Given the description of an element on the screen output the (x, y) to click on. 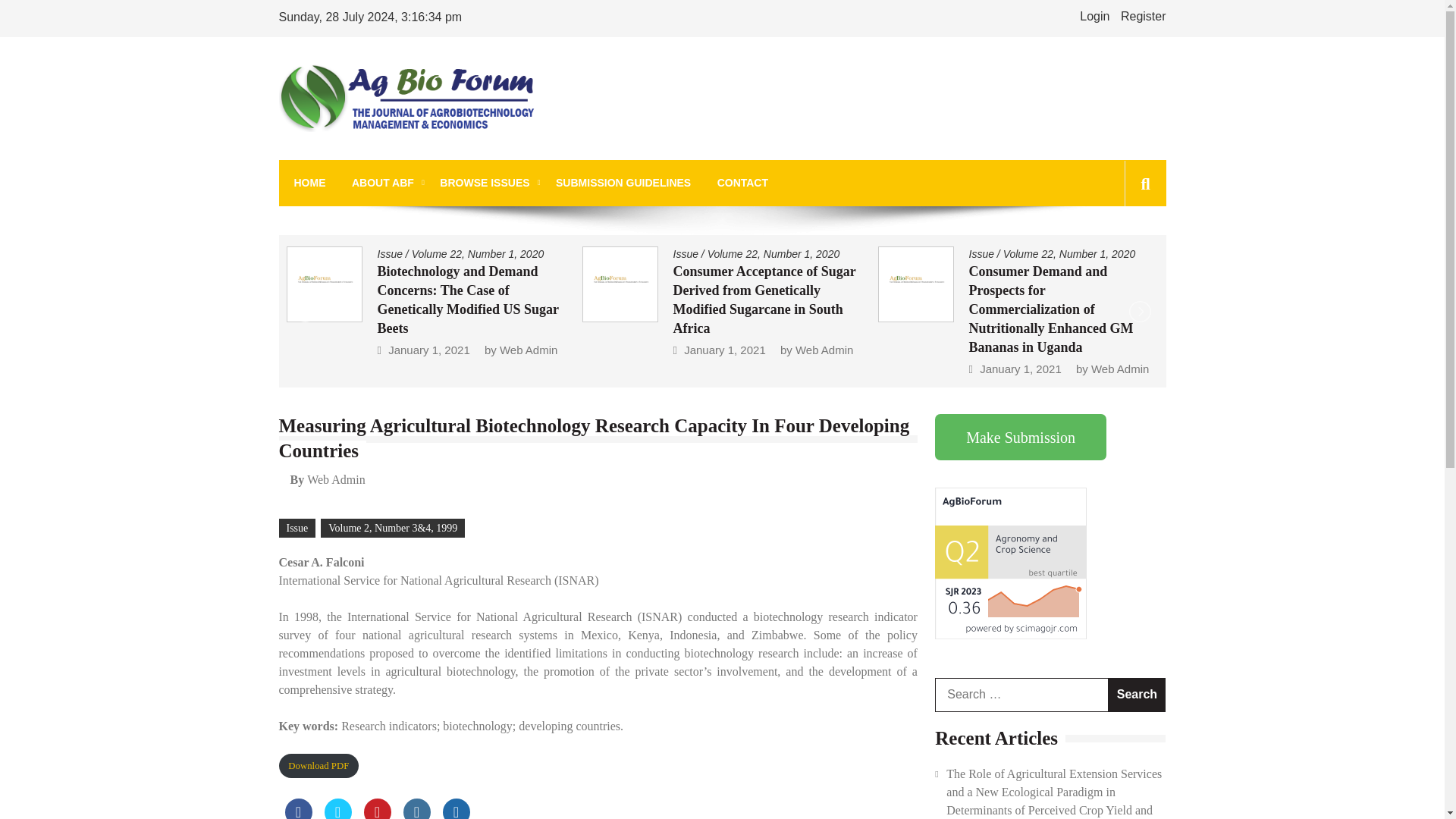
Share on Digg (456, 808)
Register (1143, 15)
BROWSE ISSUES (484, 182)
ABOUT ABF (382, 182)
Share on LinkedIn (416, 808)
Search (1137, 694)
AgBioForum (349, 152)
CONTACT (742, 182)
Share on Twitter (338, 808)
Search (1120, 252)
Login (1094, 15)
Search (1137, 694)
Share on Facebook (299, 808)
Share on Pinterest (377, 808)
HOME (310, 182)
